Given the description of an element on the screen output the (x, y) to click on. 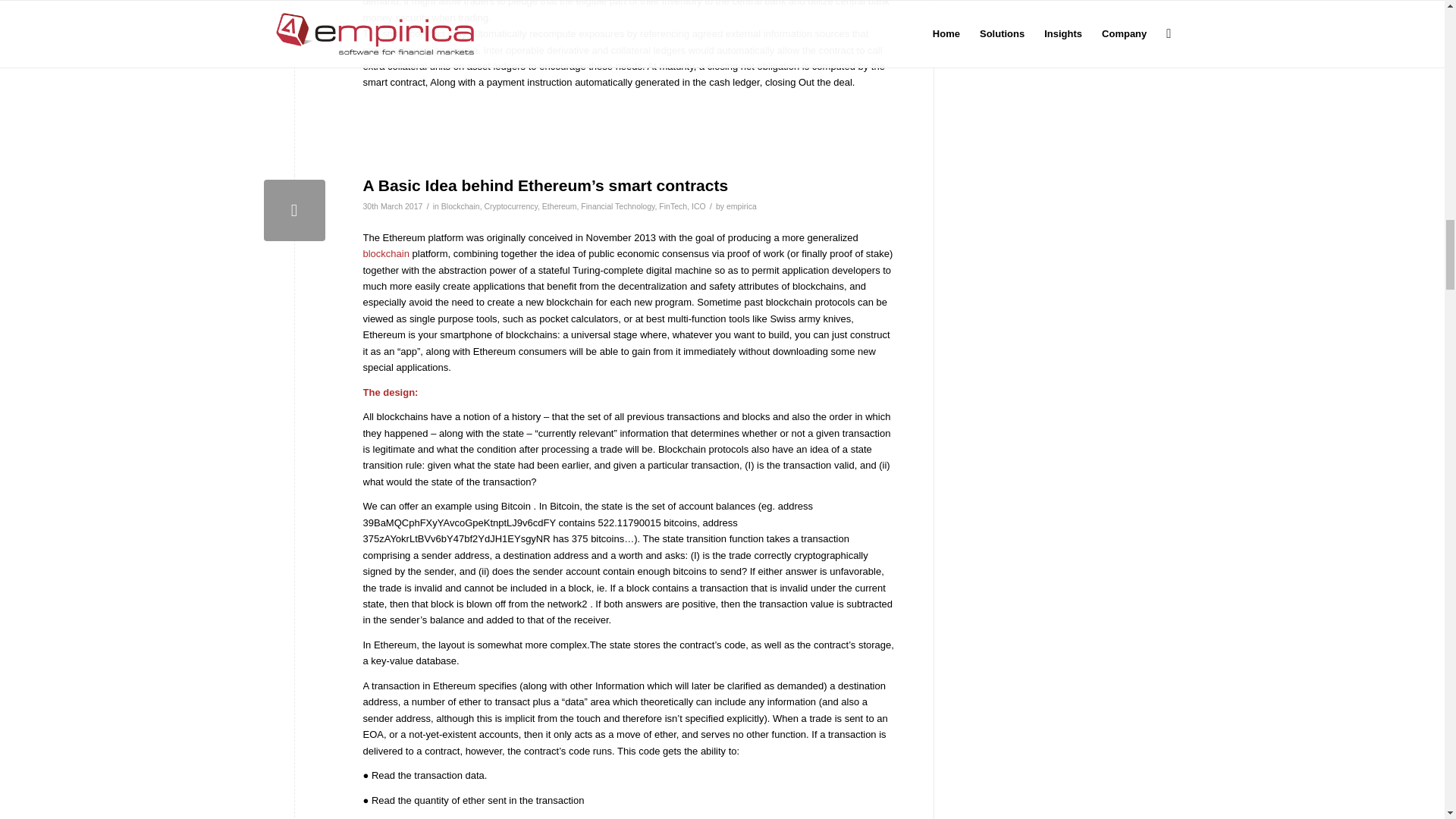
A Basic Idea behind Ethereum's smart contracts (293, 209)
Posts by empirica (741, 205)
